Given the description of an element on the screen output the (x, y) to click on. 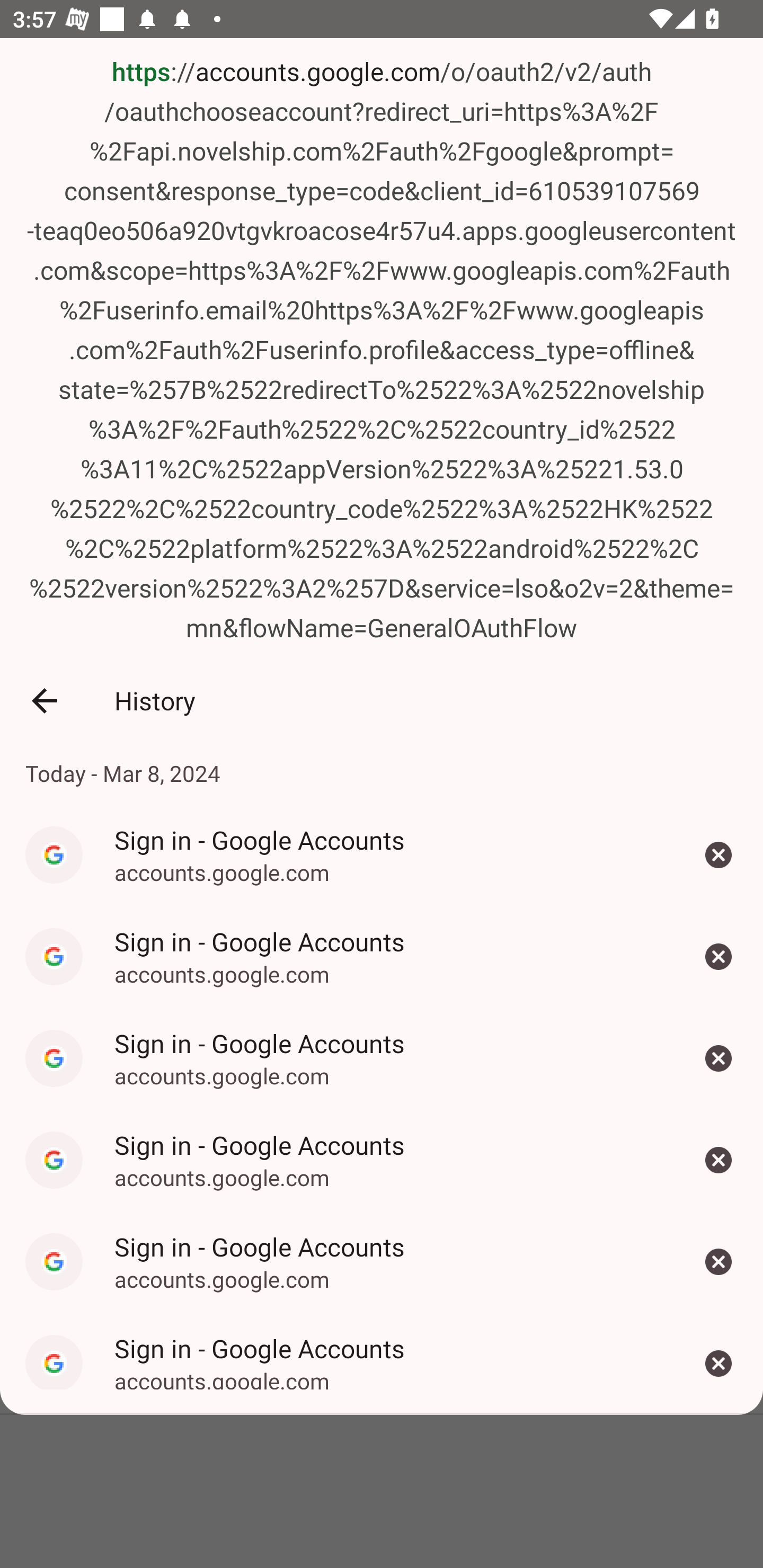
Back (44, 700)
Sign in - Google Accounts Remove (718, 855)
Sign in - Google Accounts Remove (718, 957)
Sign in - Google Accounts Remove (718, 1058)
Sign in - Google Accounts Remove (718, 1159)
Sign in - Google Accounts Remove (718, 1261)
Sign in - Google Accounts Remove (718, 1363)
